Given the description of an element on the screen output the (x, y) to click on. 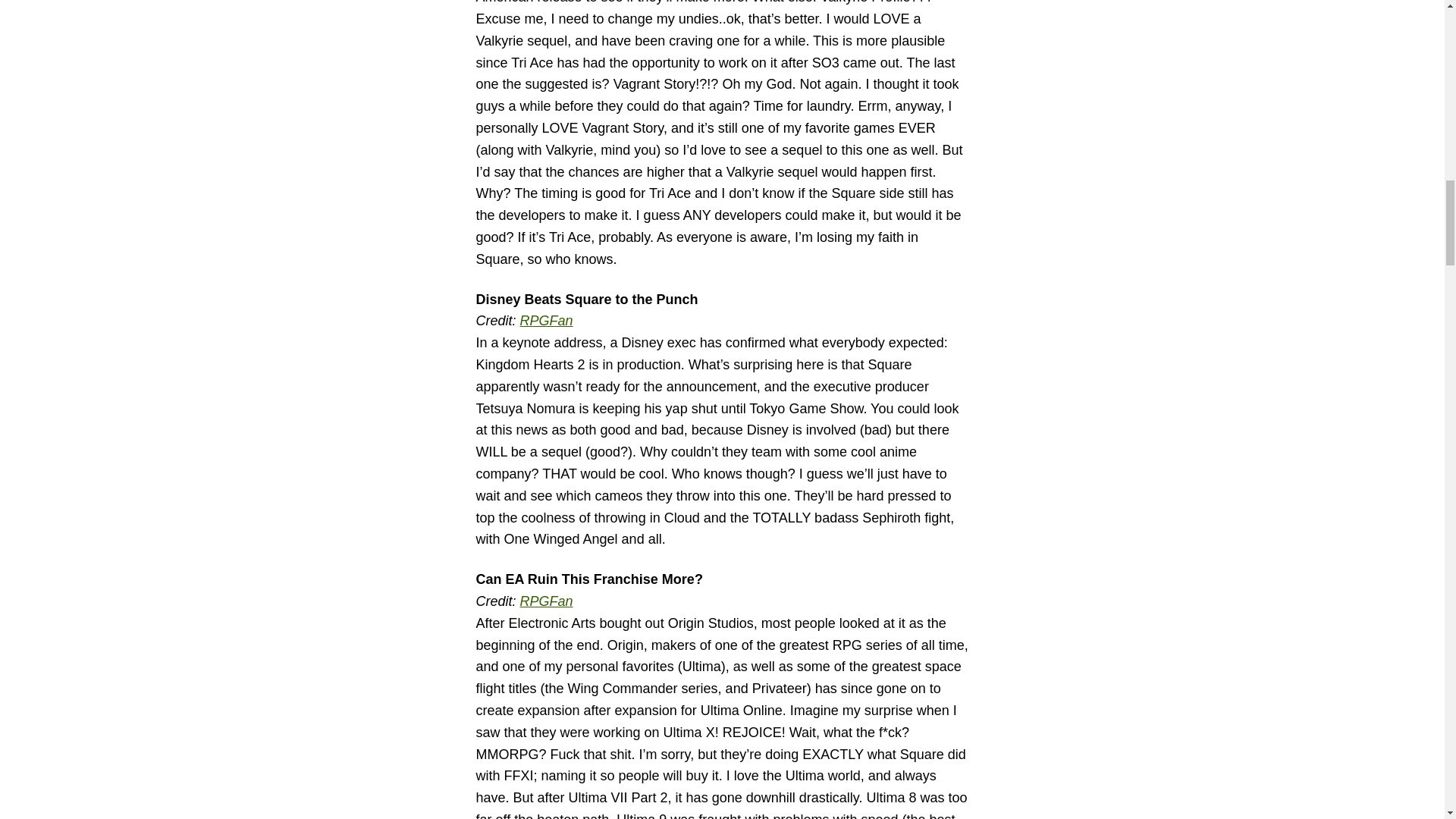
RPGFan (546, 320)
RPGFan (546, 601)
